Given the description of an element on the screen output the (x, y) to click on. 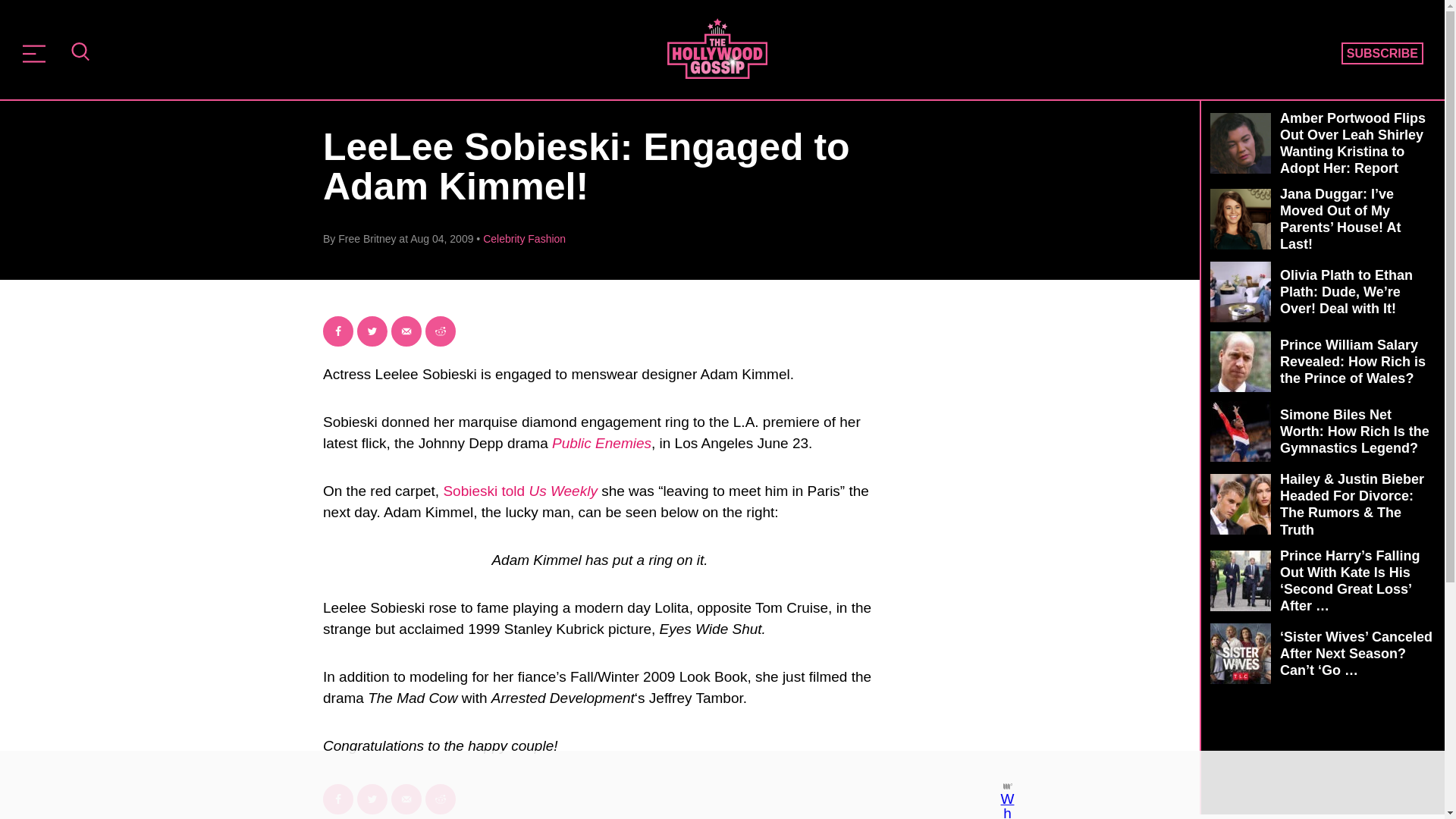
SUBSCRIBE (1381, 53)
Share on Reddit (440, 798)
Share on Reddit (440, 331)
Free Britney (366, 238)
Public Enemies (600, 442)
SEARCH (79, 53)
Share on Facebook (338, 331)
3rd party ad content (1321, 769)
The Hollywood Gossip (716, 48)
Celebrity Fashion (524, 238)
Share on Twitter (371, 798)
Share on Twitter (371, 331)
Share on Facebook (338, 798)
